Given the description of an element on the screen output the (x, y) to click on. 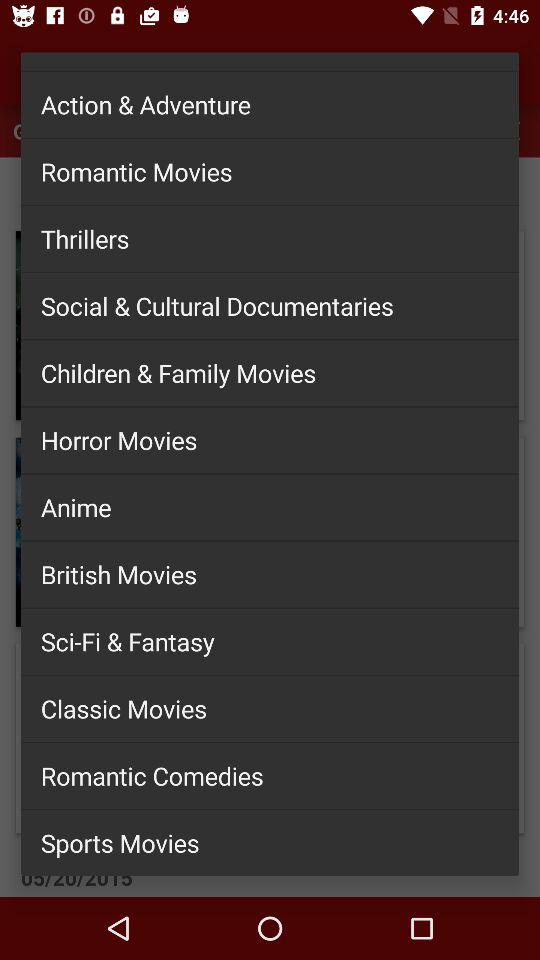
swipe until the    british movies item (269, 574)
